Given the description of an element on the screen output the (x, y) to click on. 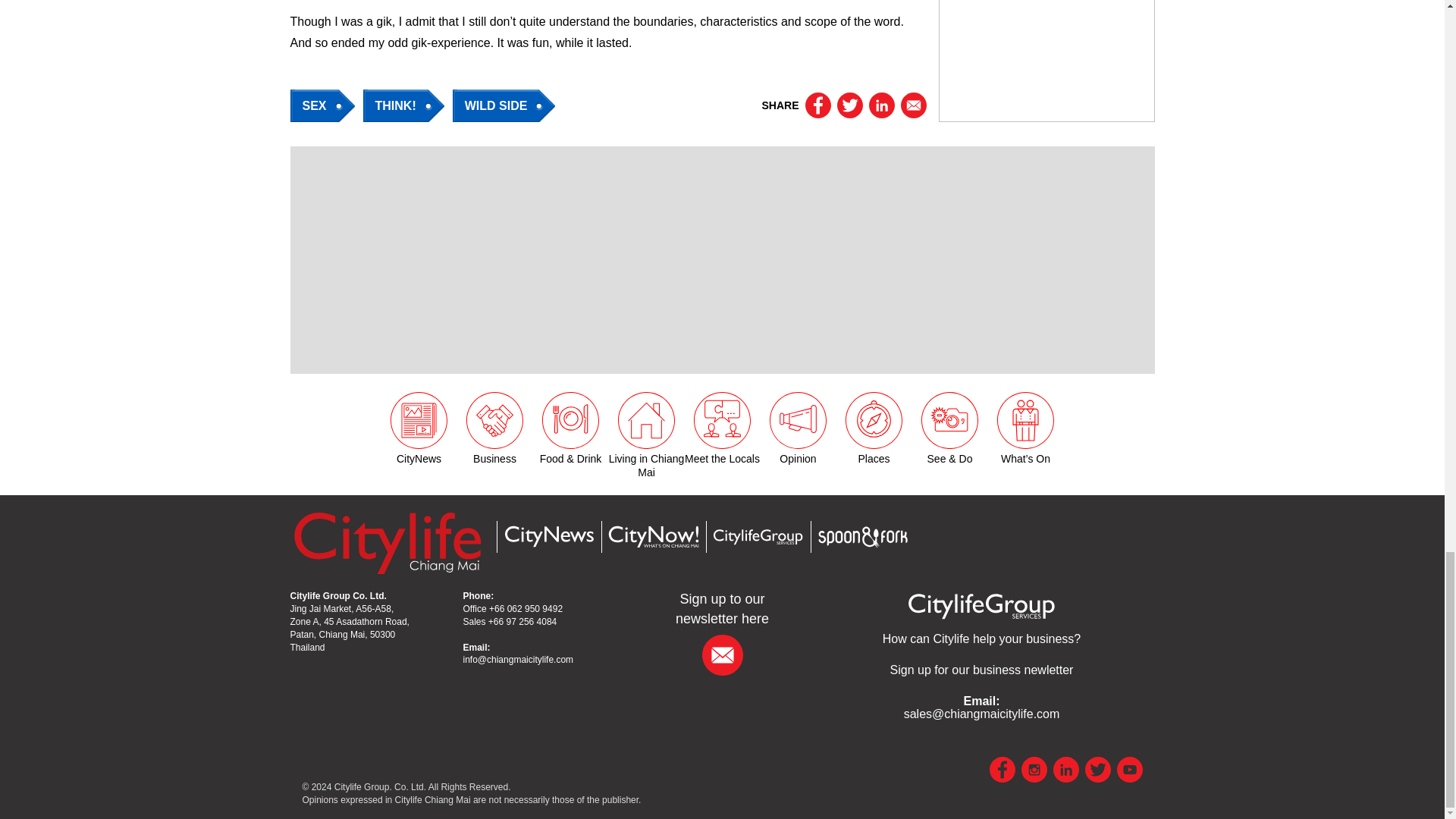
Citylife Group Services (981, 604)
Citylife Group Services (757, 536)
CityNow - What's on Chiang Mai (652, 536)
CityNews (548, 535)
Citylife Group Services (981, 638)
Chiang Mai Citylife (386, 542)
